Given the description of an element on the screen output the (x, y) to click on. 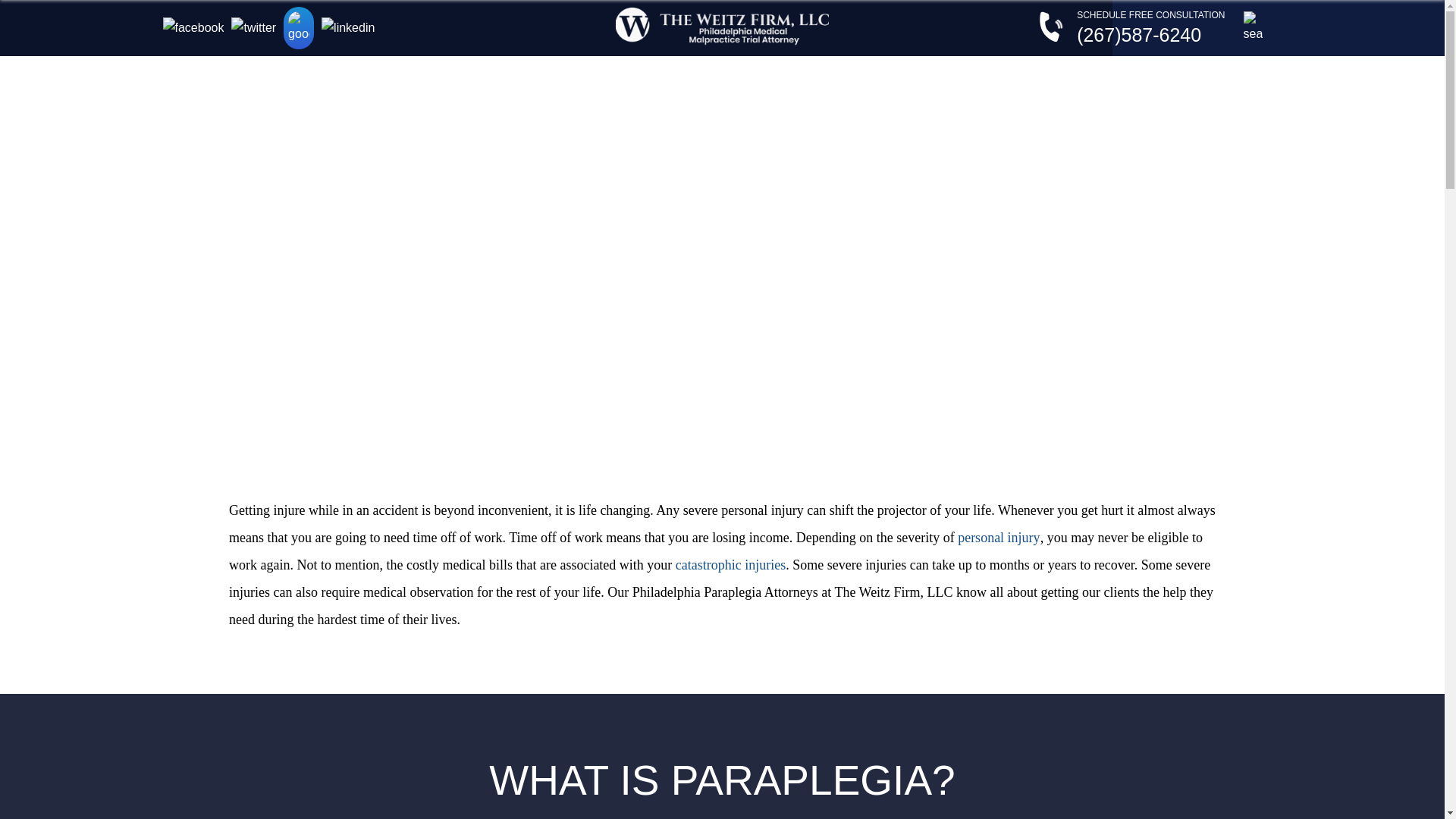
Other Practice Areas (689, 75)
Home (242, 75)
About Us (360, 75)
Verdicts And Settlements (879, 75)
Areas Served (1053, 75)
personal injury (998, 537)
Medical Malpractice (511, 75)
